Given the description of an element on the screen output the (x, y) to click on. 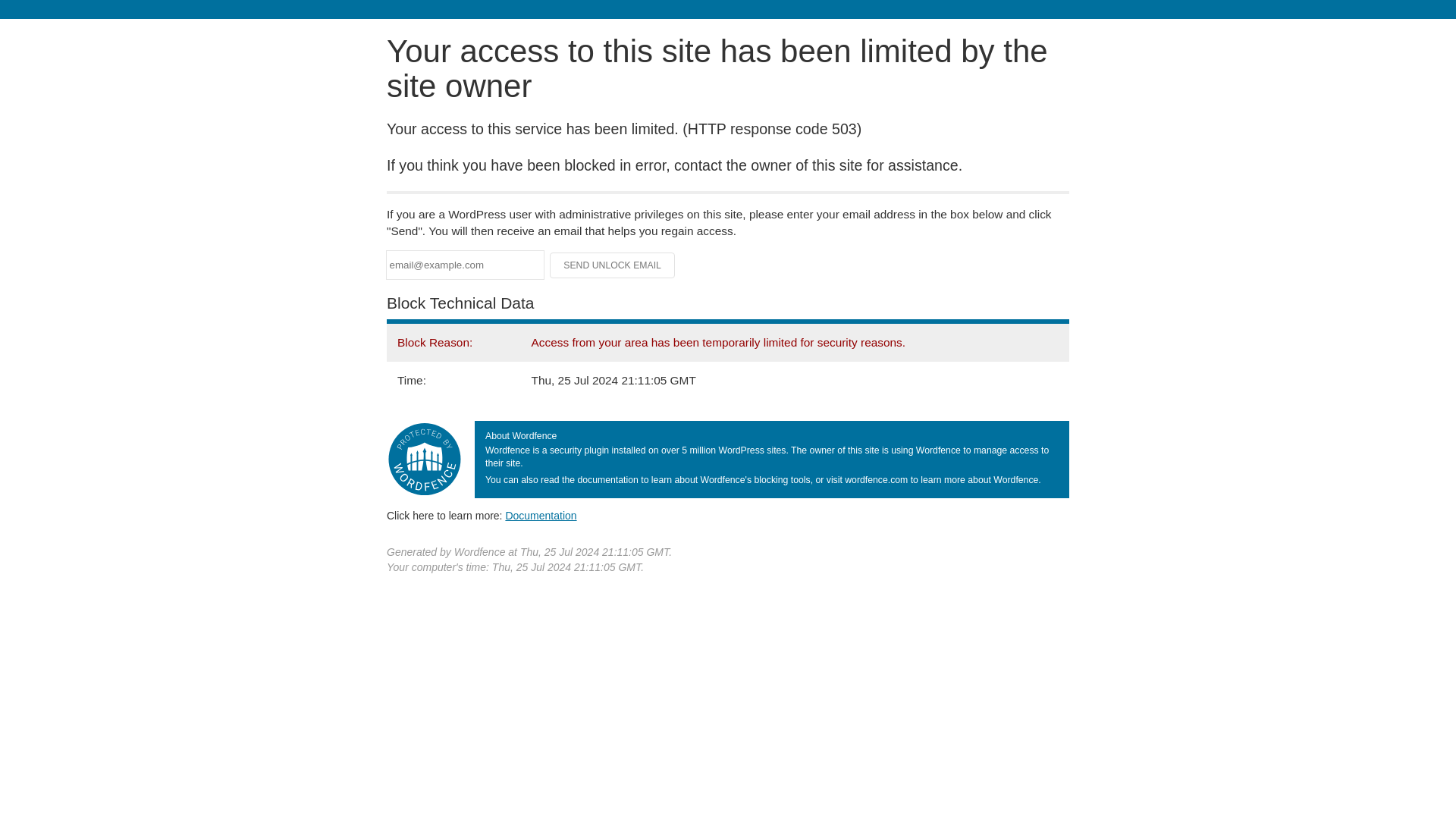
Send Unlock Email (612, 265)
Documentation (540, 515)
Send Unlock Email (612, 265)
